Given the description of an element on the screen output the (x, y) to click on. 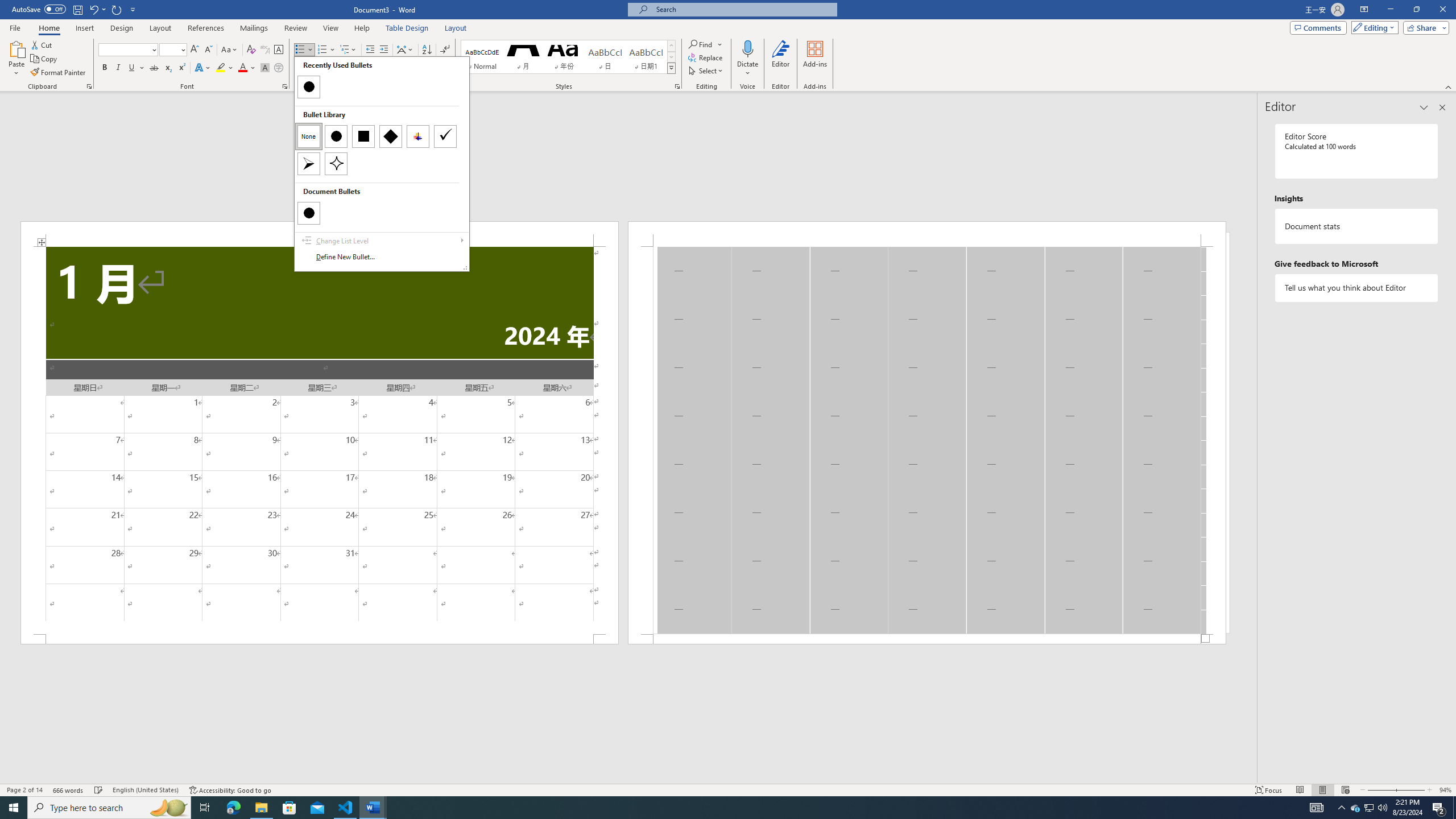
Customize Quick Access Toolbar (133, 9)
Styles... (676, 85)
Accessibility Checker Accessibility: Good to go (230, 790)
File Tab (15, 27)
Page Number Page 2 of 14 (24, 790)
Minimize (1390, 9)
Notification Chevron (1341, 807)
Dictate (747, 48)
Start (13, 807)
Task View (204, 807)
Paste (1368, 807)
